Given the description of an element on the screen output the (x, y) to click on. 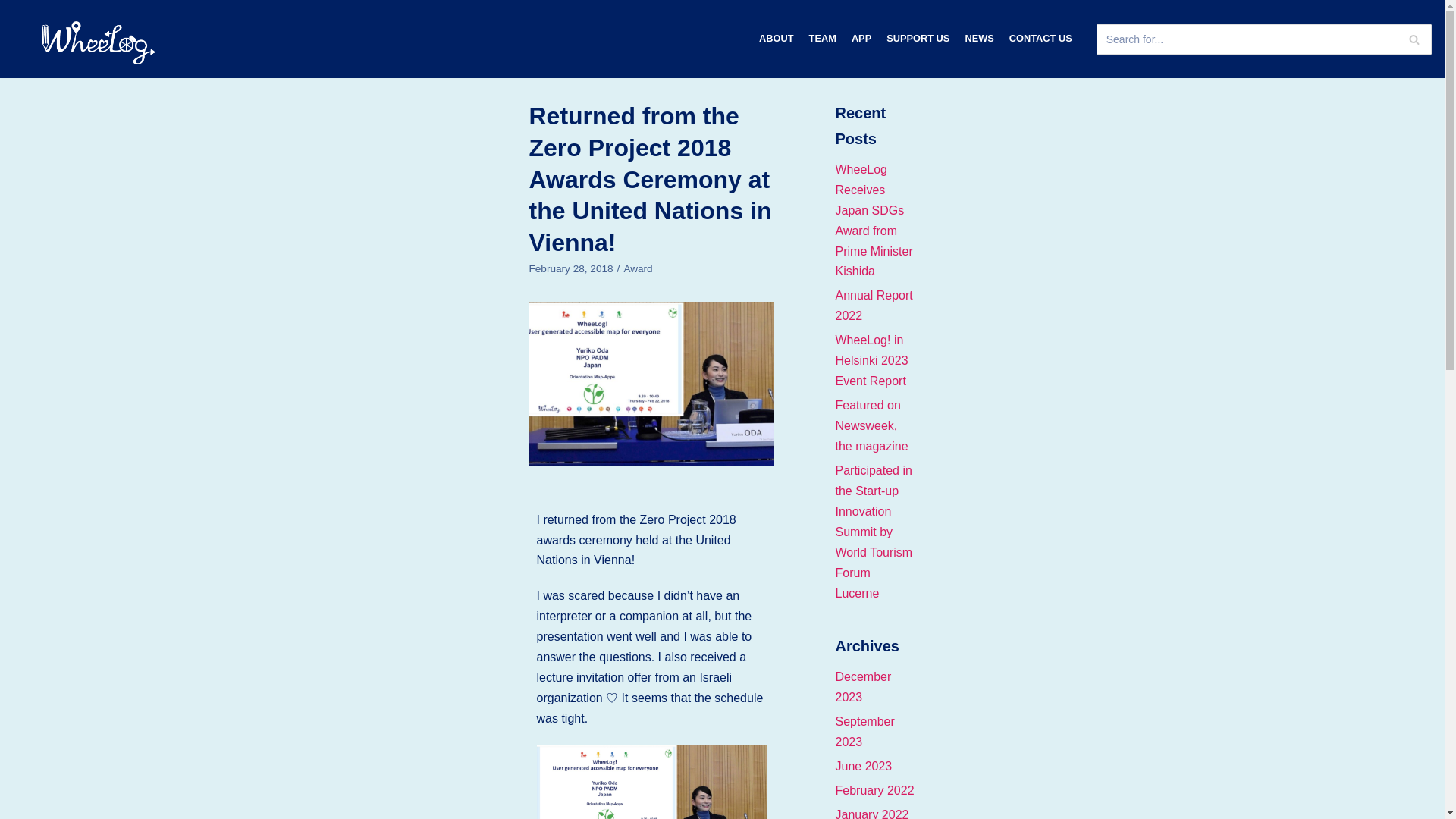
Award (637, 268)
NEWS (977, 38)
September 2023 (865, 731)
WheeLog! (98, 42)
TEAM (822, 38)
Skip to content (15, 7)
CONTACT US (1040, 38)
December 2023 (863, 686)
January 2022 (871, 813)
February 2022 (874, 789)
